Given the description of an element on the screen output the (x, y) to click on. 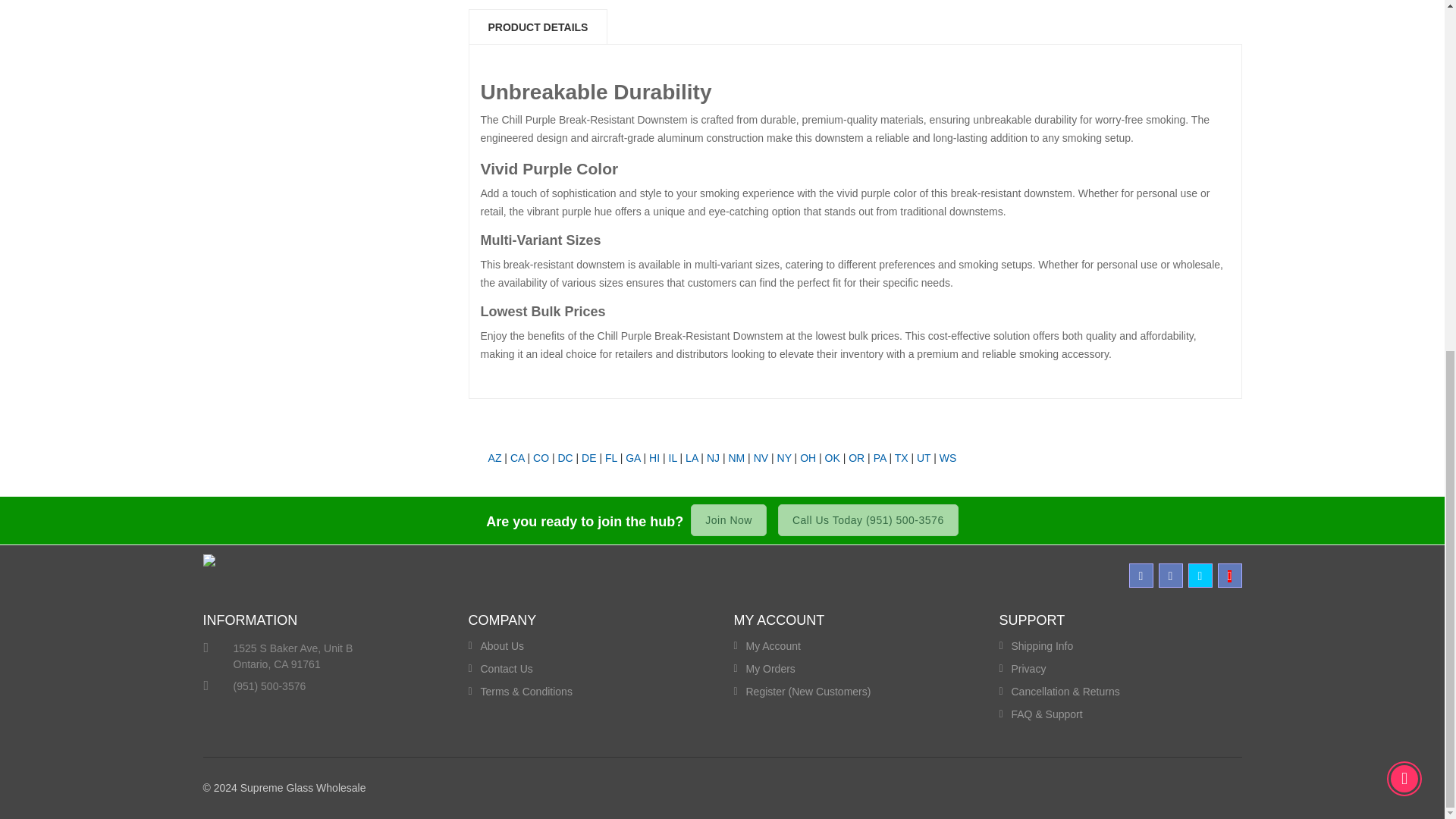
Youtube (1229, 575)
Facebook (1140, 575)
Twitter (1199, 575)
